Given the description of an element on the screen output the (x, y) to click on. 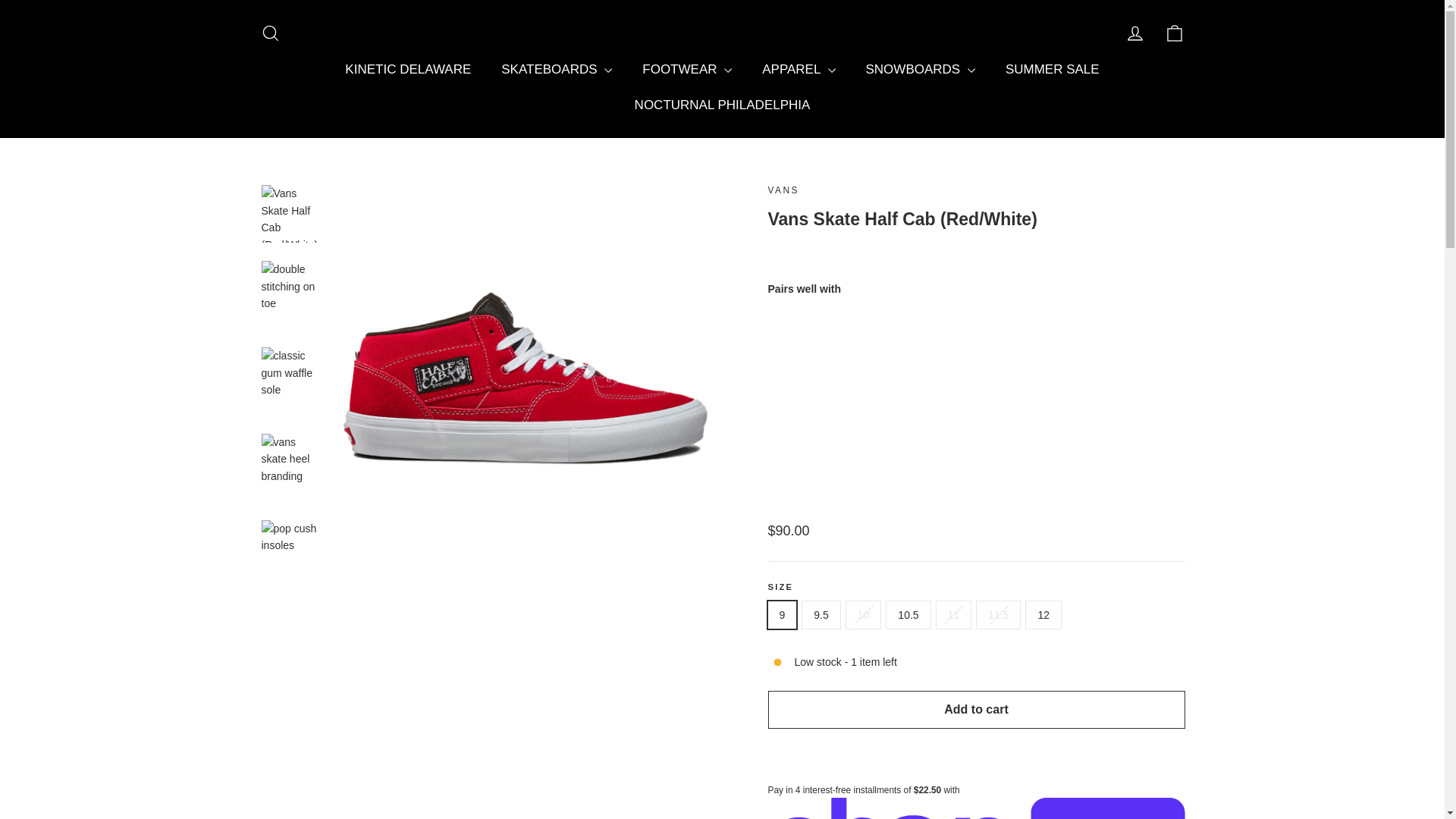
icon-bag-minimal (1174, 33)
icon-search (270, 33)
account (1134, 33)
